Given the description of an element on the screen output the (x, y) to click on. 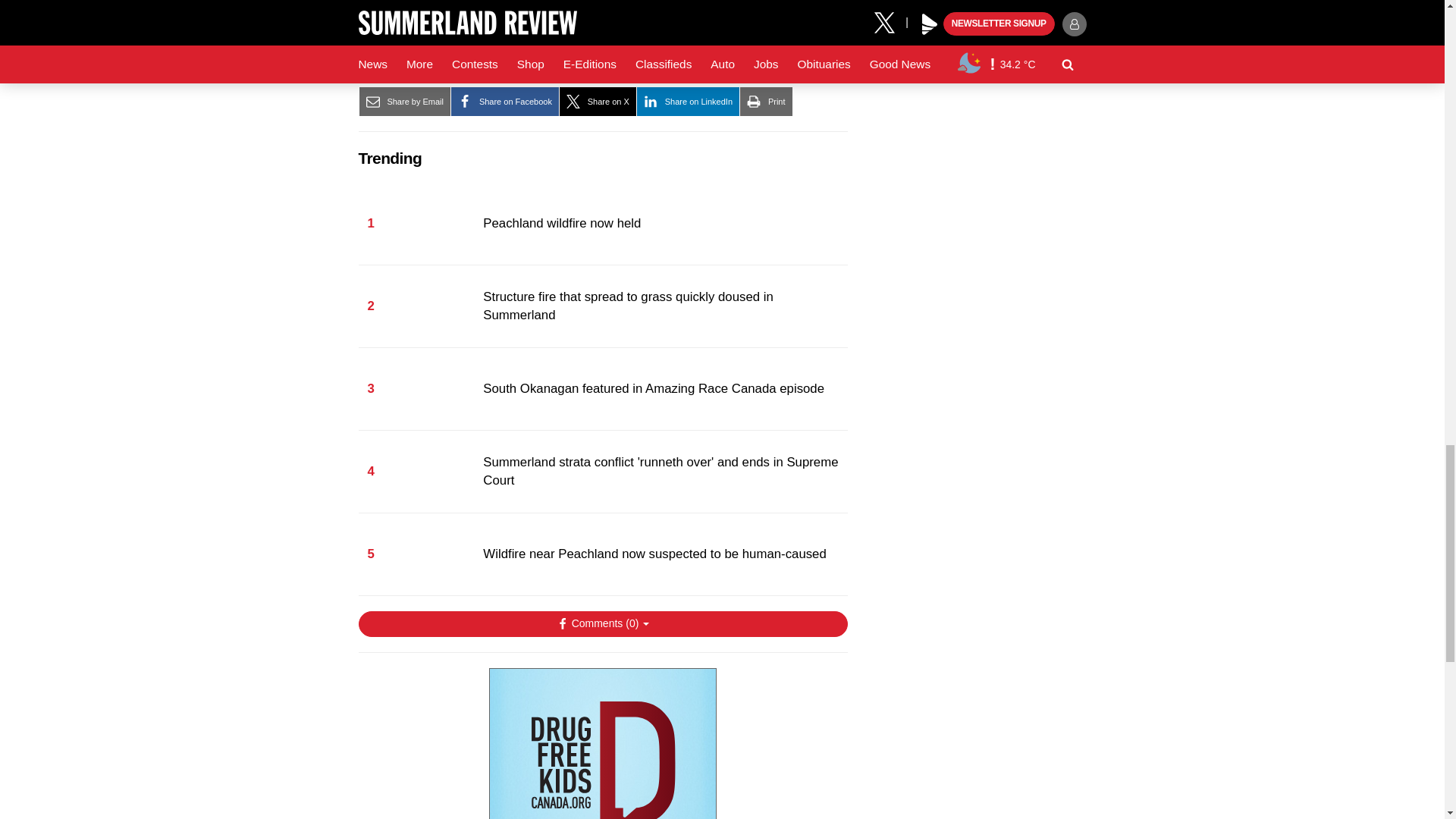
3rd party ad content (602, 743)
Show Comments (602, 623)
